Given the description of an element on the screen output the (x, y) to click on. 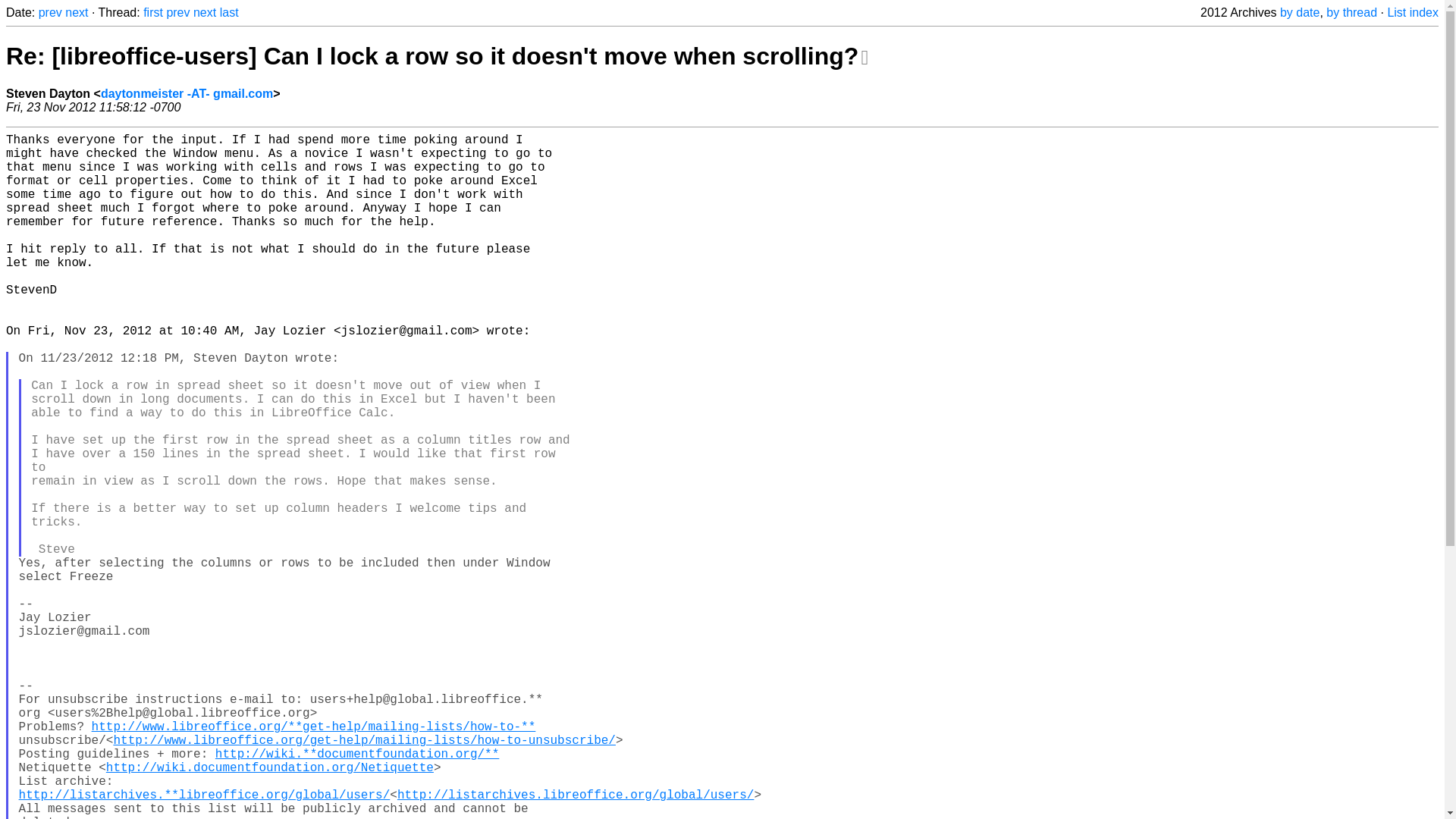
by date (1299, 11)
prev (50, 11)
by thread (1351, 11)
prev (177, 11)
last (228, 11)
daytonmeister -AT- gmail.com (186, 92)
next (76, 11)
next (204, 11)
first (152, 11)
